Given the description of an element on the screen output the (x, y) to click on. 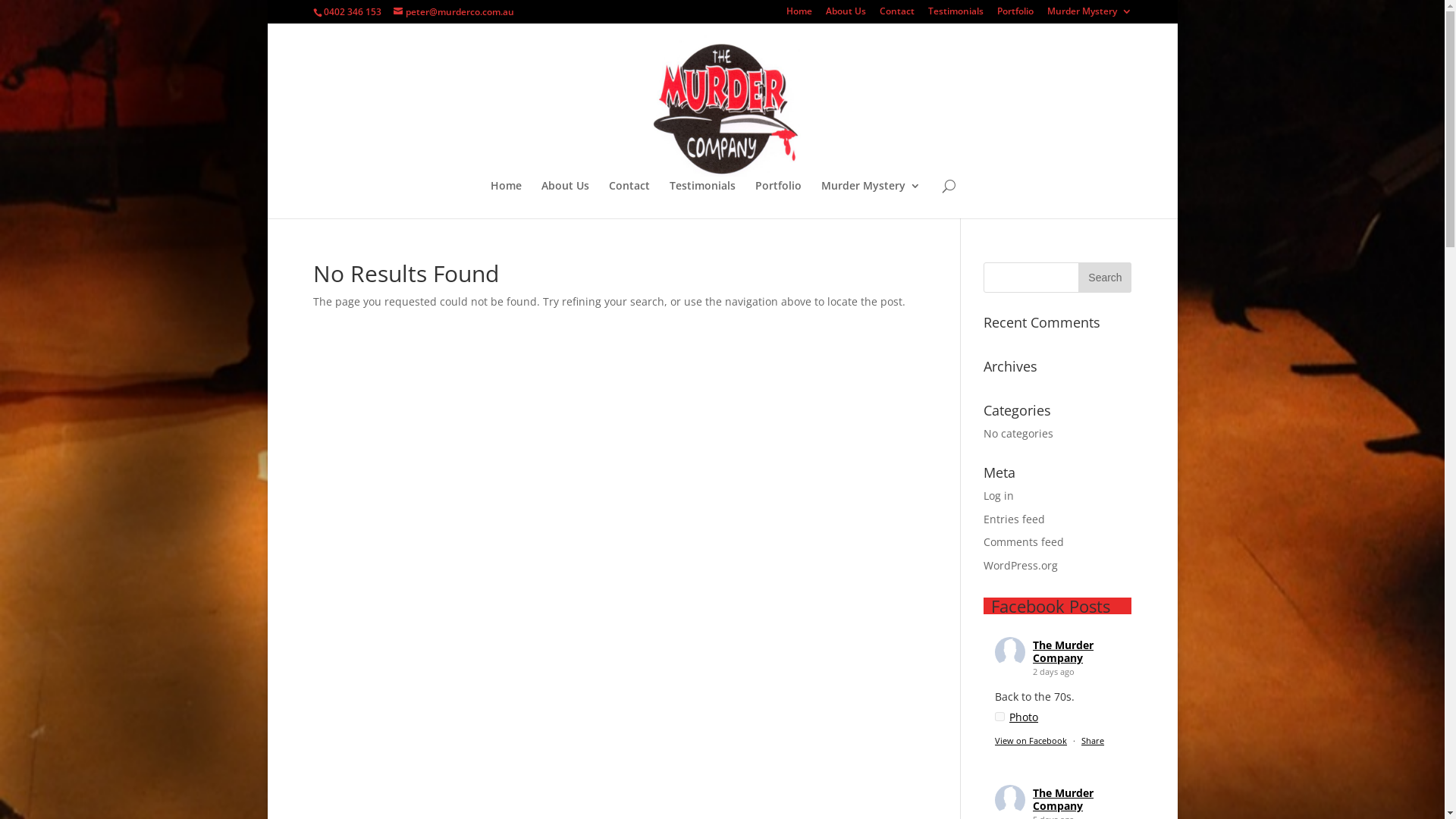
WordPress.org Element type: text (1020, 565)
Portfolio Element type: text (778, 199)
Home Element type: text (505, 199)
Share Element type: text (1092, 740)
Search Element type: text (1104, 277)
The Murder Company Element type: text (1062, 798)
Log in Element type: text (998, 495)
About Us Element type: text (845, 14)
Contact Element type: text (896, 14)
Home Element type: text (798, 14)
Murder Mystery Element type: text (1088, 14)
About Us Element type: text (565, 199)
Murder Mystery Element type: text (870, 199)
The Murder Company Element type: text (1062, 651)
Contact Element type: text (628, 199)
peter@murderco.com.au Element type: text (452, 11)
Portfolio Element type: text (1014, 14)
Testimonials Element type: text (955, 14)
Photo Element type: text (1016, 716)
Testimonials Element type: text (702, 199)
Entries feed Element type: text (1013, 518)
View on Facebook Element type: text (1030, 740)
Comments feed Element type: text (1023, 541)
